Given the description of an element on the screen output the (x, y) to click on. 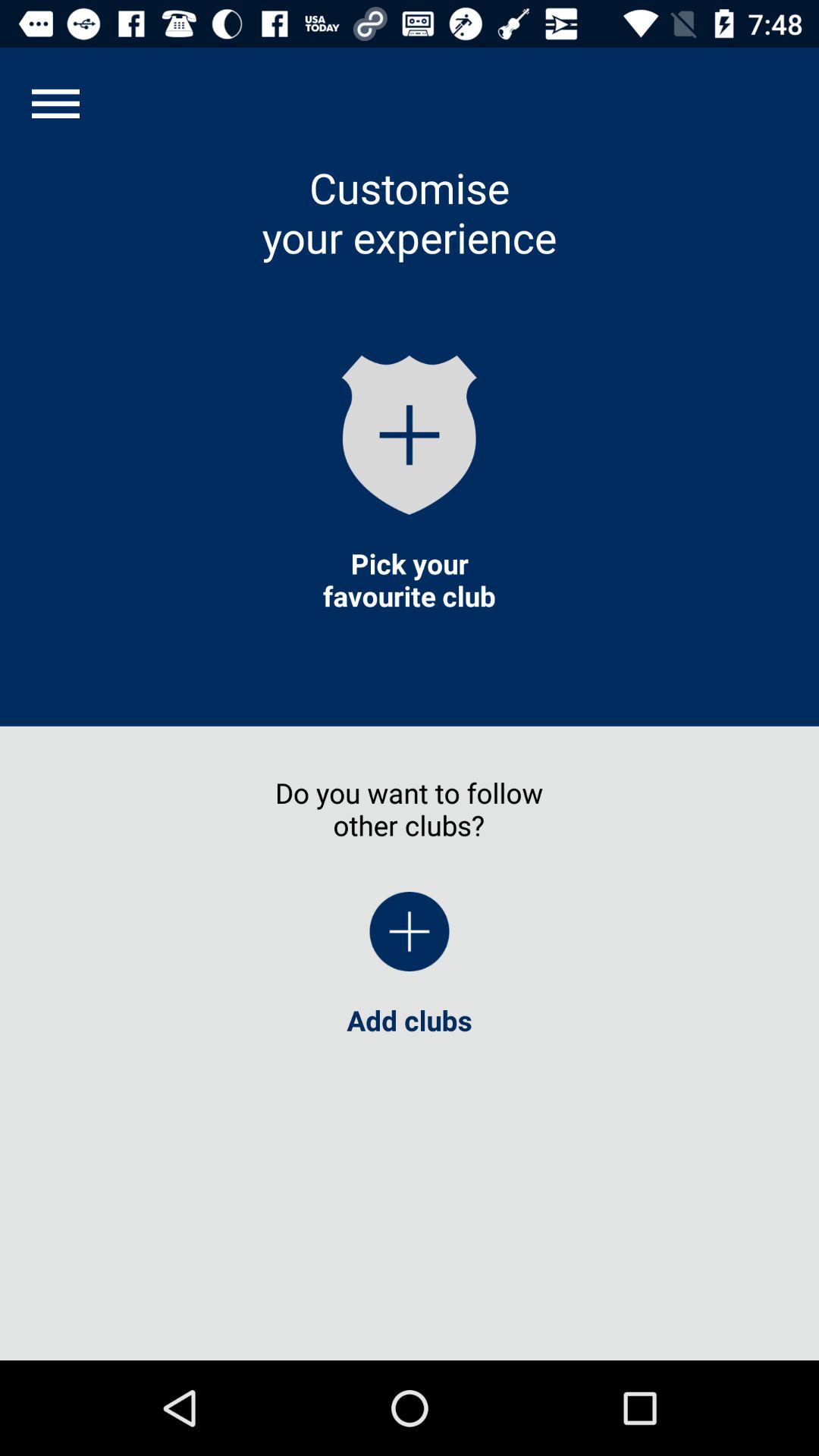
swipe to pick your favourite (409, 579)
